Given the description of an element on the screen output the (x, y) to click on. 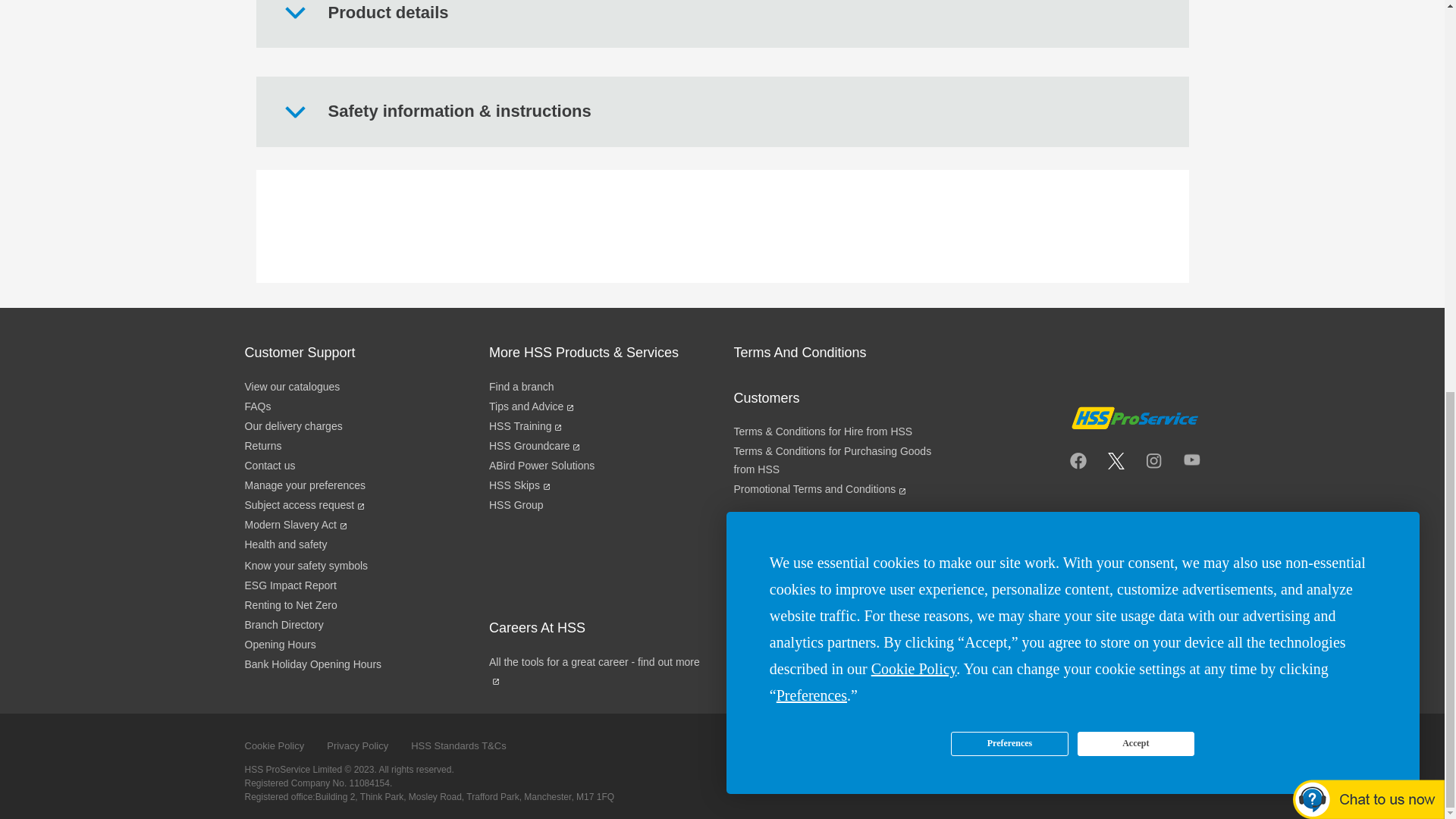
Preferences (1008, 2)
Accept (1135, 2)
